Given the description of an element on the screen output the (x, y) to click on. 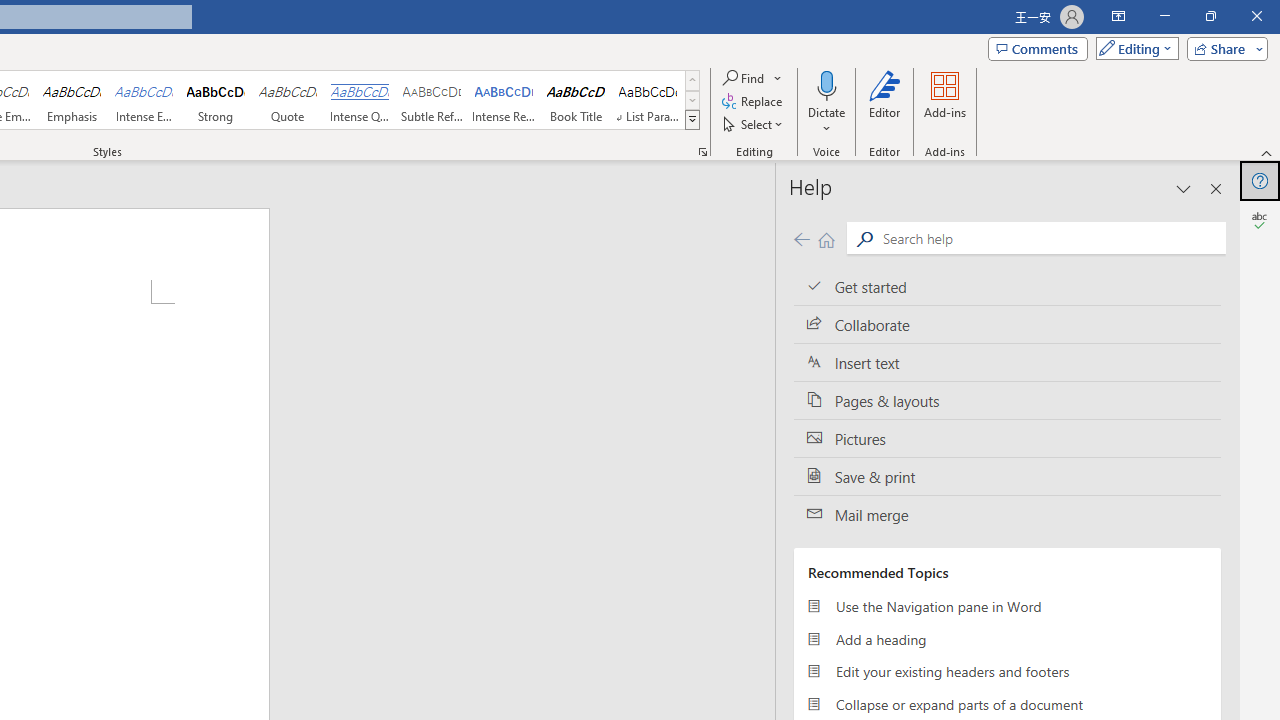
Pictures (1007, 438)
Add a heading (1007, 638)
Collapse or expand parts of a document (1007, 704)
Previous page (801, 238)
Mail merge (1007, 515)
